Given the description of an element on the screen output the (x, y) to click on. 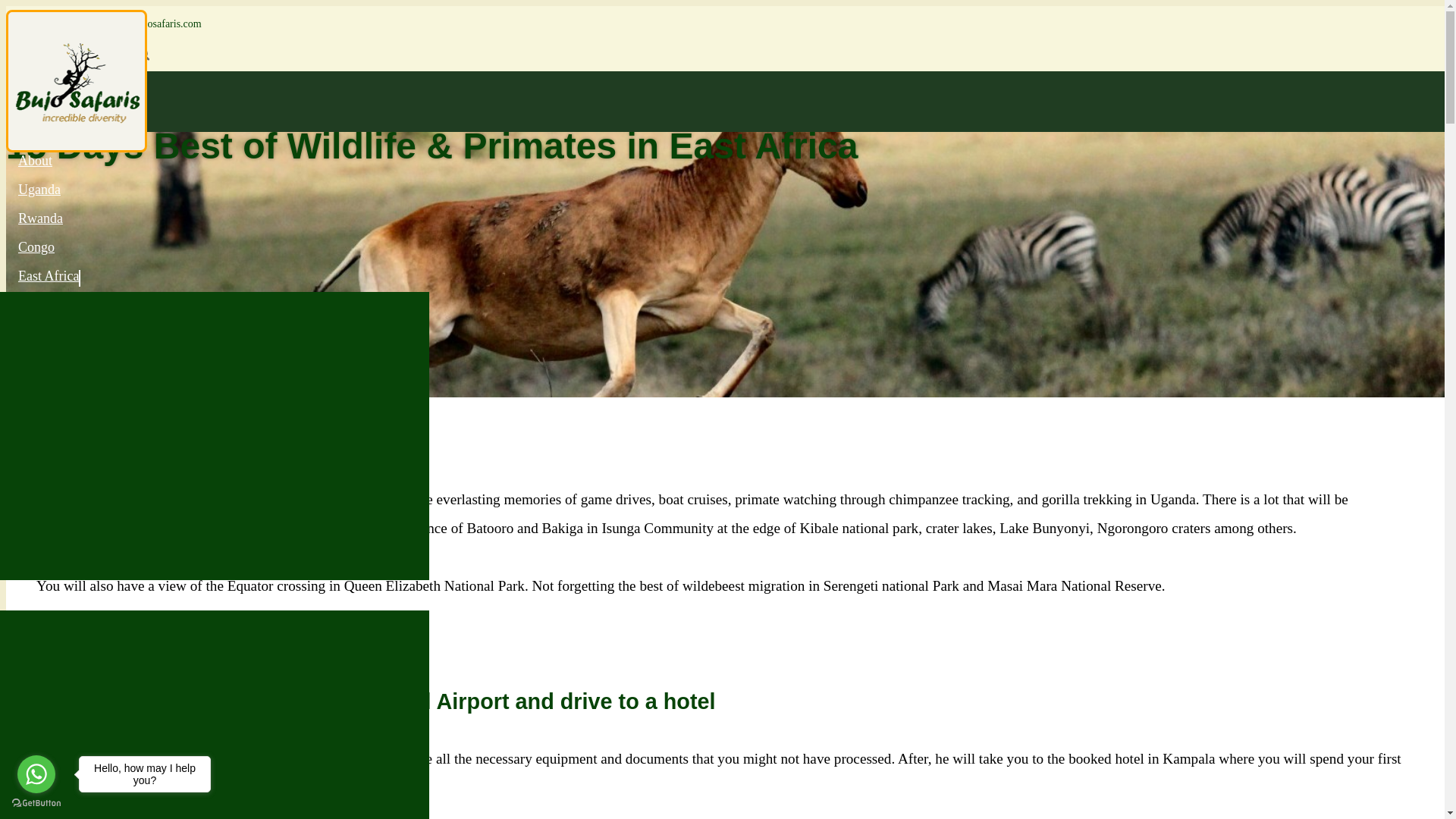
submit (143, 54)
Rwanda (40, 212)
About (34, 154)
Uganda (38, 183)
Destinations (52, 587)
Home (34, 125)
East Africa (49, 269)
Congo (35, 240)
